Given the description of an element on the screen output the (x, y) to click on. 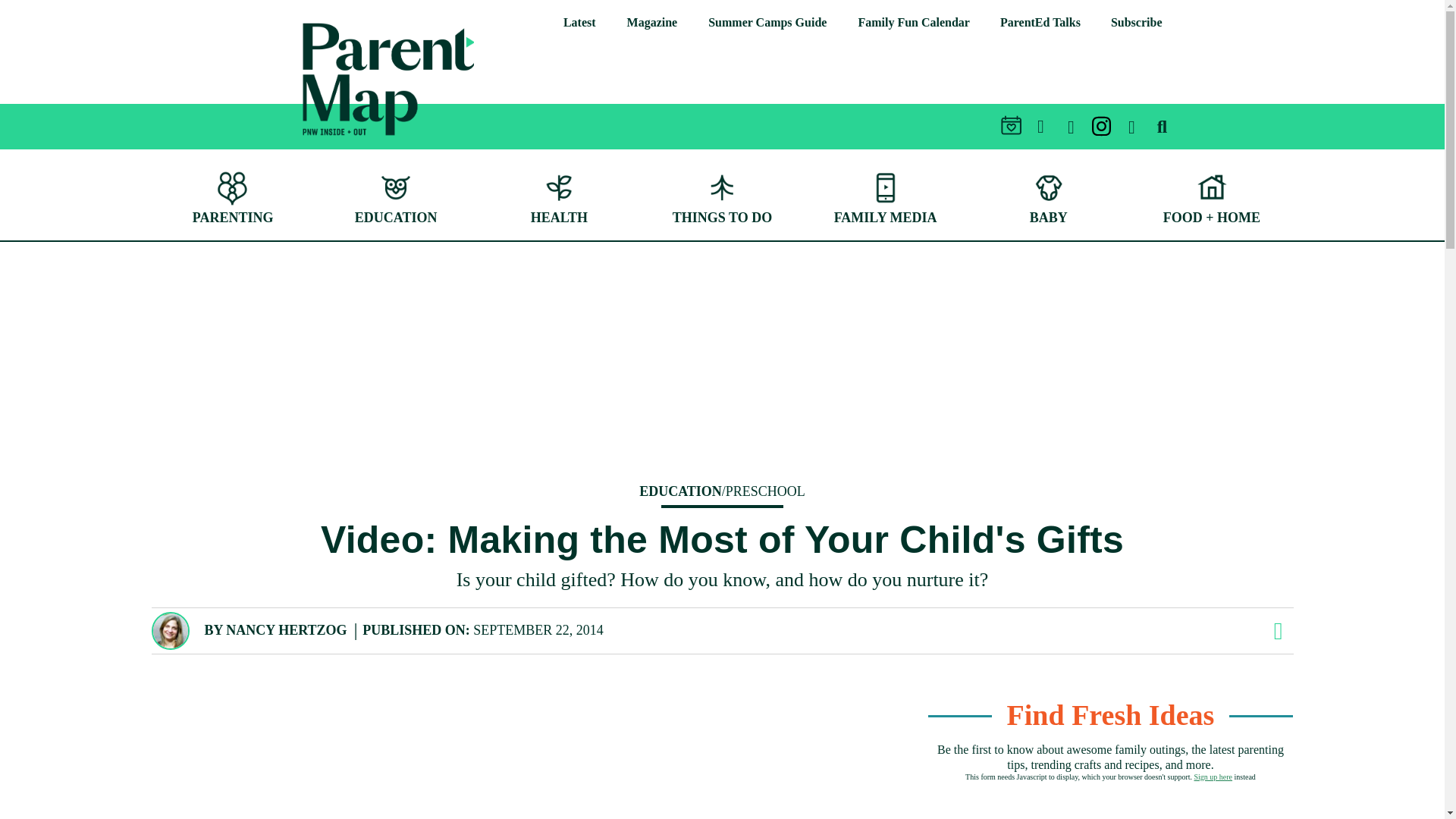
ParentMap (312, 145)
Home (312, 145)
Search (1405, 72)
Summer Camps Guide (767, 22)
Magazine (652, 22)
ParentEd Talks (1040, 22)
Home (388, 78)
Latest (579, 22)
Calendar (913, 22)
Family Fun Calendar (913, 22)
Leave a comment (1277, 630)
Subscribe (1136, 22)
Nancy Hertzog (285, 630)
